Given the description of an element on the screen output the (x, y) to click on. 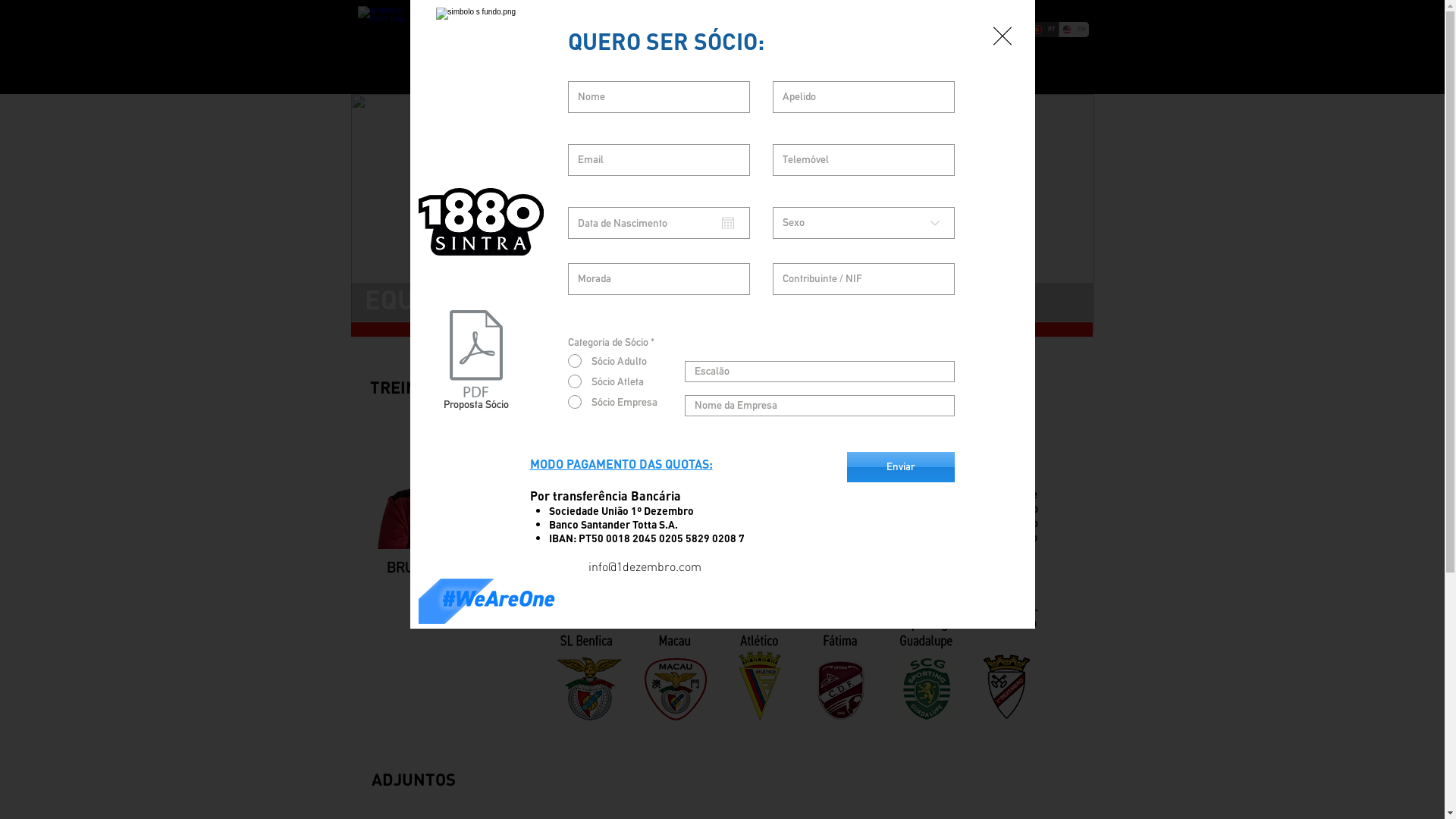
info@1dezembro.com Element type: text (644, 565)
PT Element type: text (1043, 29)
EN Element type: text (1073, 29)
Enviar Element type: text (899, 466)
HOME Element type: text (517, 80)
Voltar ao site Element type: hover (1002, 35)
Site Search Element type: hover (1075, 73)
CONTATOS Element type: text (982, 80)
